Given the description of an element on the screen output the (x, y) to click on. 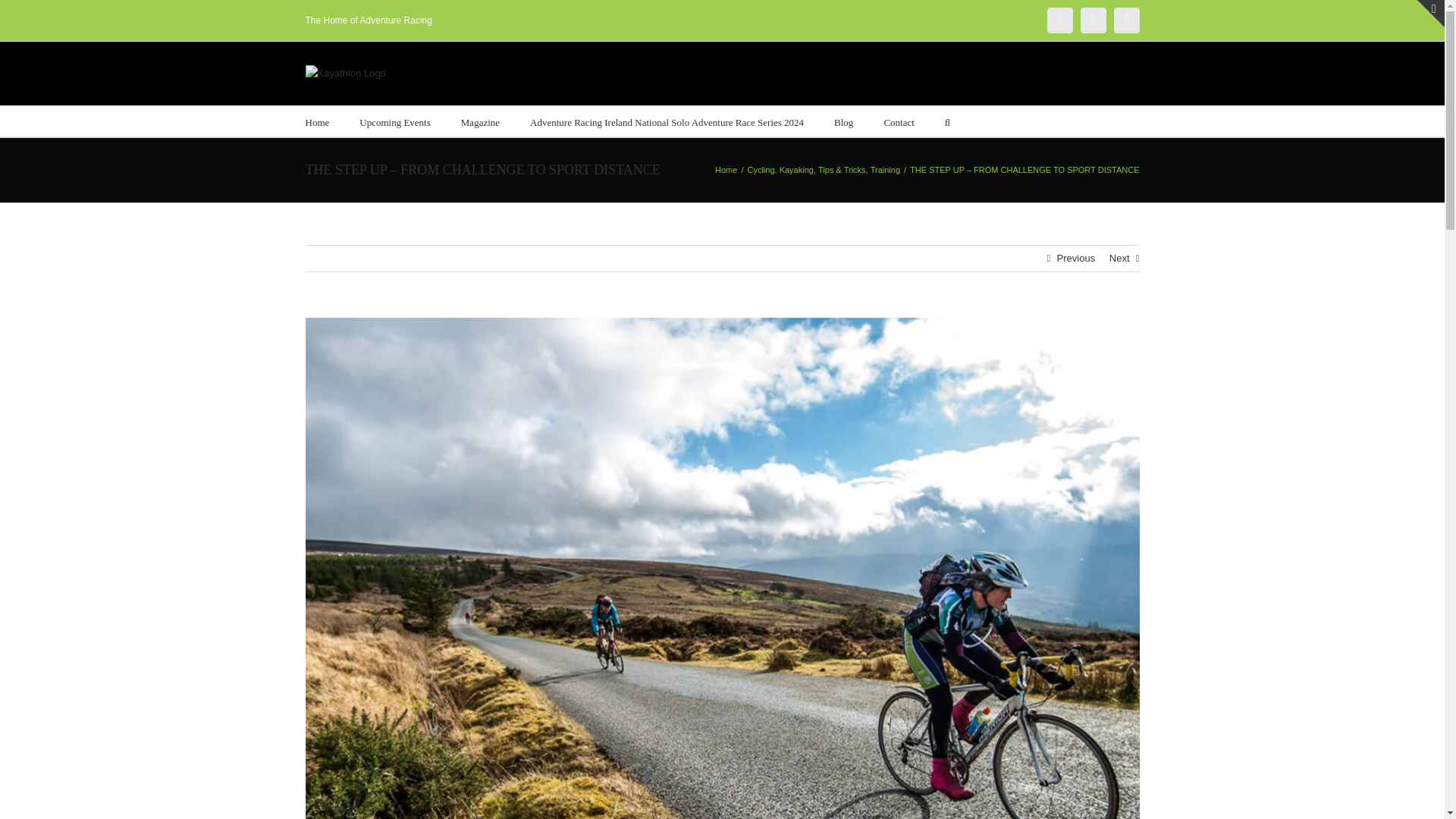
Contact (898, 121)
Facebook (1092, 20)
Twitter (1125, 20)
Instagram (1058, 20)
Instagram (1058, 20)
Upcoming Events (394, 121)
Facebook (1092, 20)
Twitter (1125, 20)
Magazine (480, 121)
